Given the description of an element on the screen output the (x, y) to click on. 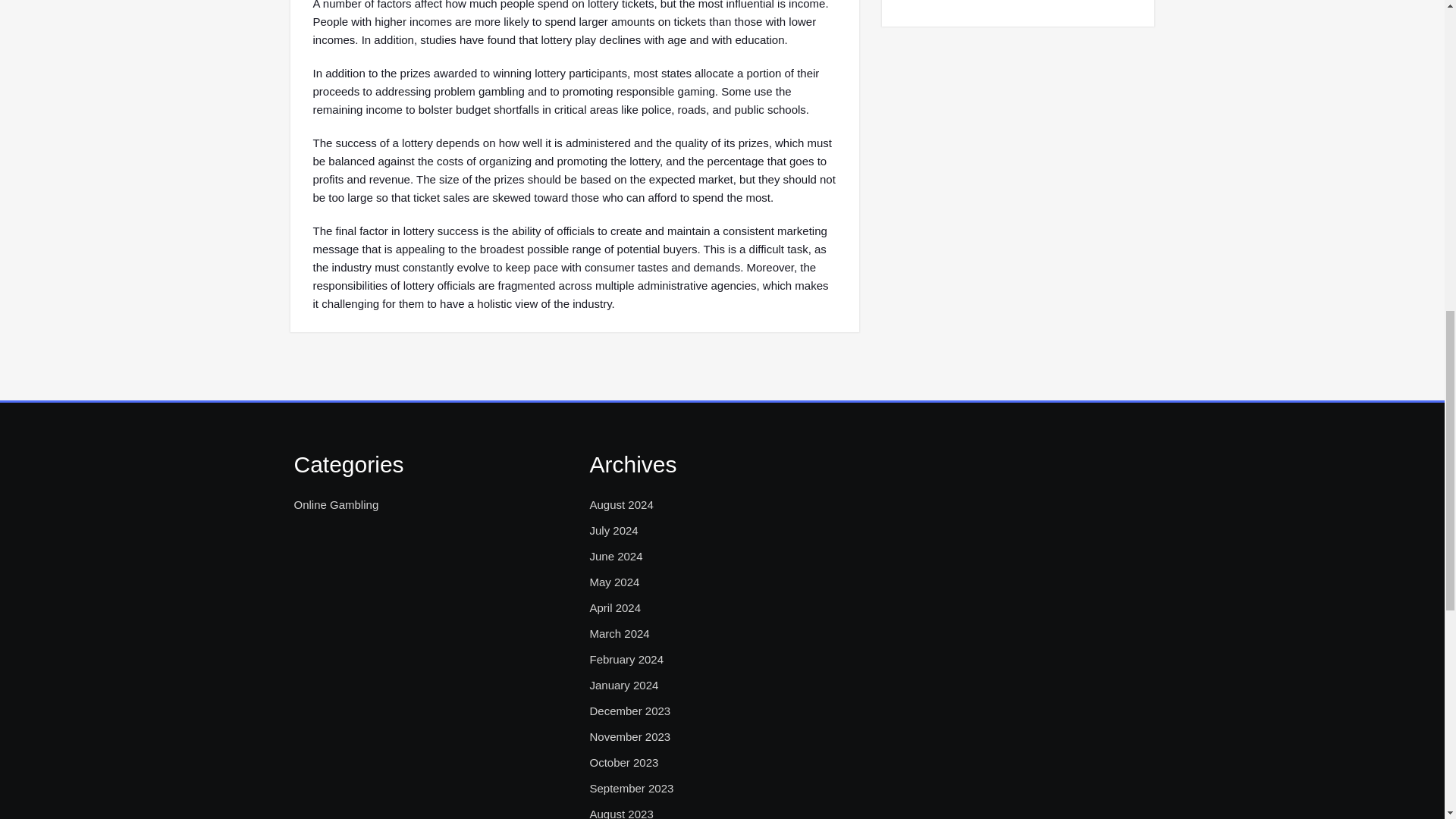
November 2023 (629, 737)
September 2023 (630, 788)
October 2023 (623, 762)
February 2024 (626, 659)
Online Gambling (336, 505)
August 2023 (620, 812)
March 2024 (619, 633)
June 2024 (615, 556)
July 2024 (613, 530)
January 2024 (623, 685)
